Given the description of an element on the screen output the (x, y) to click on. 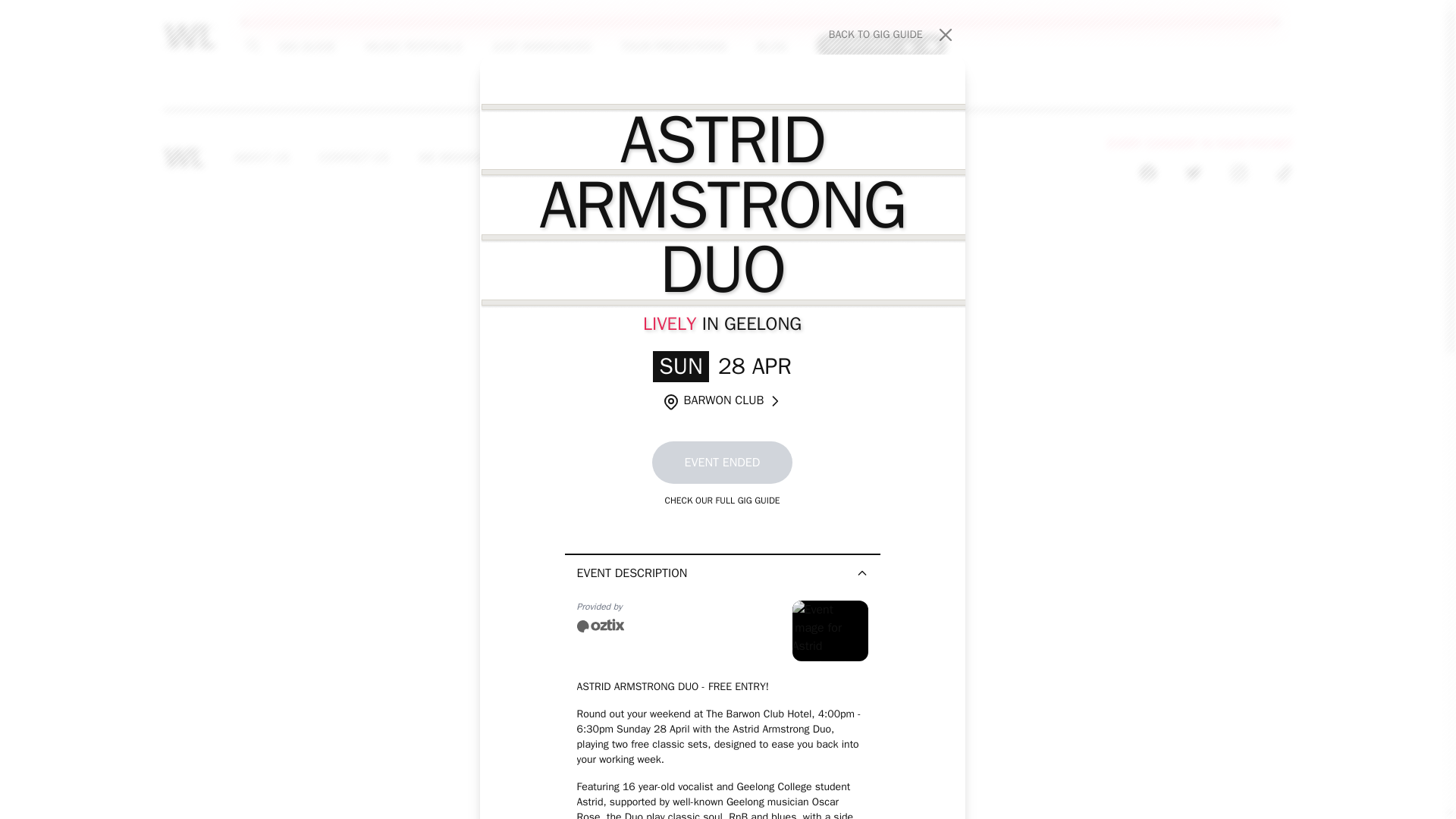
ABOUT US (261, 157)
TOUR PREDICTIONS (673, 45)
WE MISSING A GIG? (472, 157)
JUST ANNOUNCED (541, 45)
GIG GUIDE (306, 45)
MARKETING AGENCY (768, 157)
BLOG (892, 34)
CONTACT US (771, 45)
MUSIC FESTIVALS (354, 157)
GET APP NOW (413, 45)
ADVERTISE YOUR TOUR (881, 44)
